Given the description of an element on the screen output the (x, y) to click on. 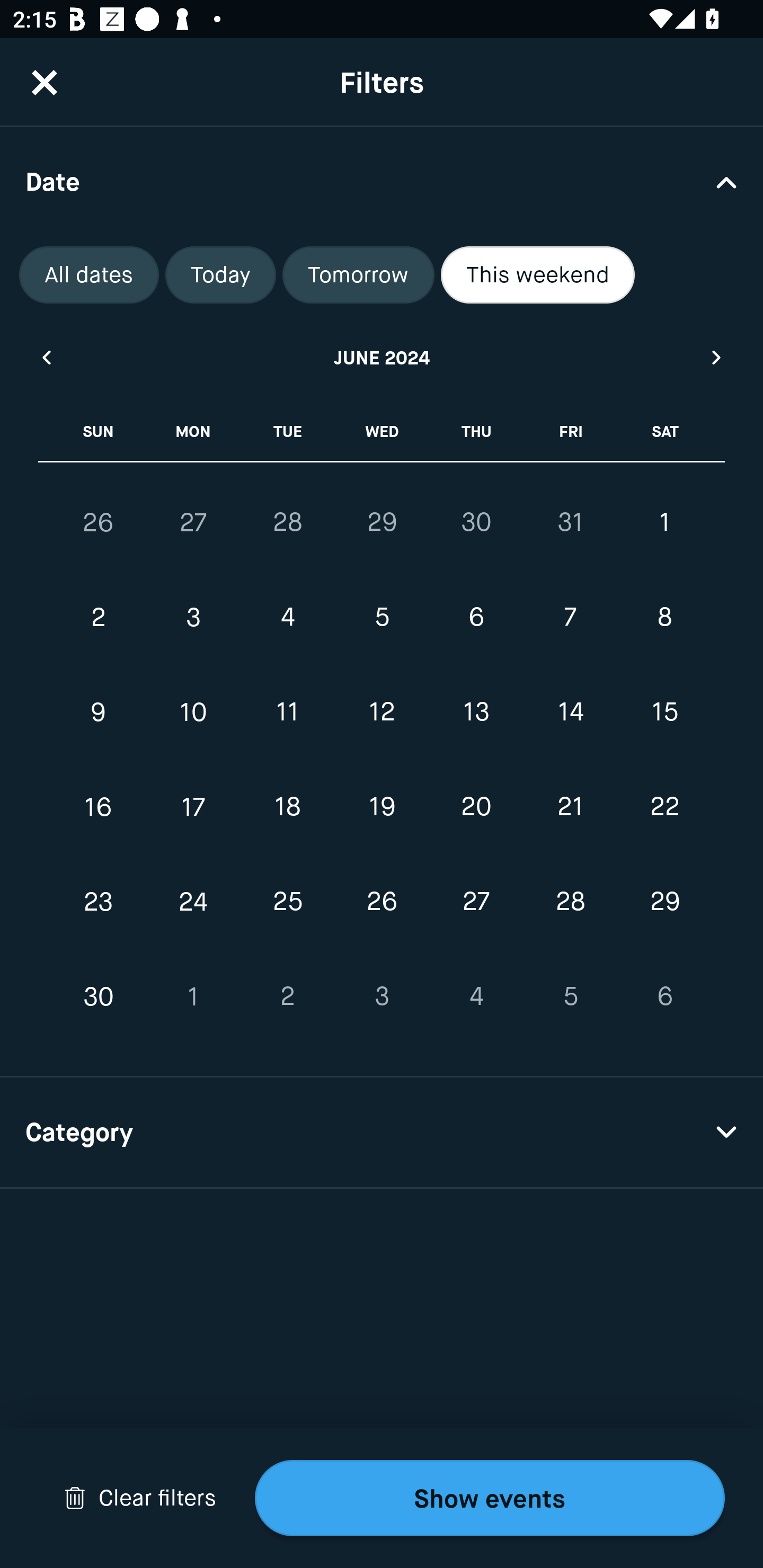
CloseButton (44, 82)
Date Drop Down Arrow (381, 181)
All dates (88, 274)
Today (220, 274)
Tomorrow (358, 274)
This weekend (537, 274)
Previous (45, 357)
Next (717, 357)
26 (98, 522)
27 (192, 522)
28 (287, 522)
29 (381, 522)
30 (475, 522)
31 (570, 522)
1 (664, 522)
2 (98, 617)
3 (192, 617)
4 (287, 617)
5 (381, 617)
6 (475, 617)
7 (570, 617)
8 (664, 617)
9 (98, 711)
10 (192, 711)
11 (287, 711)
12 (381, 711)
13 (475, 711)
14 (570, 711)
15 (664, 711)
16 (98, 806)
17 (192, 806)
18 (287, 806)
19 (381, 806)
20 (475, 806)
21 (570, 806)
22 (664, 806)
23 (98, 901)
24 (192, 901)
25 (287, 901)
26 (381, 901)
27 (475, 901)
28 (570, 901)
29 (664, 901)
30 (98, 996)
1 (192, 996)
2 (287, 996)
3 (381, 996)
4 (475, 996)
5 (570, 996)
6 (664, 996)
Category Drop Down Arrow (381, 1132)
Drop Down Arrow Clear filters (139, 1497)
Show events (489, 1497)
